Given the description of an element on the screen output the (x, y) to click on. 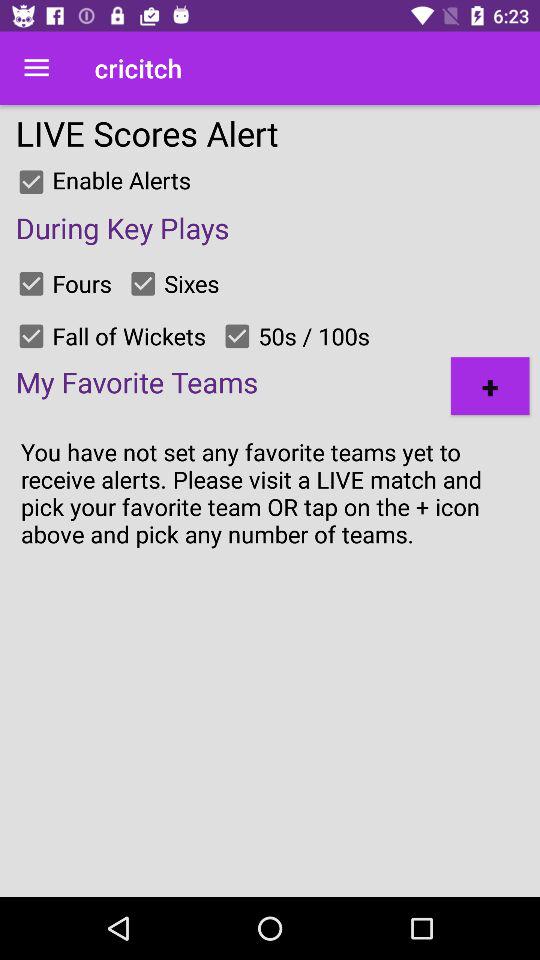
turn off the icon next to the fall of wickets (31, 336)
